Given the description of an element on the screen output the (x, y) to click on. 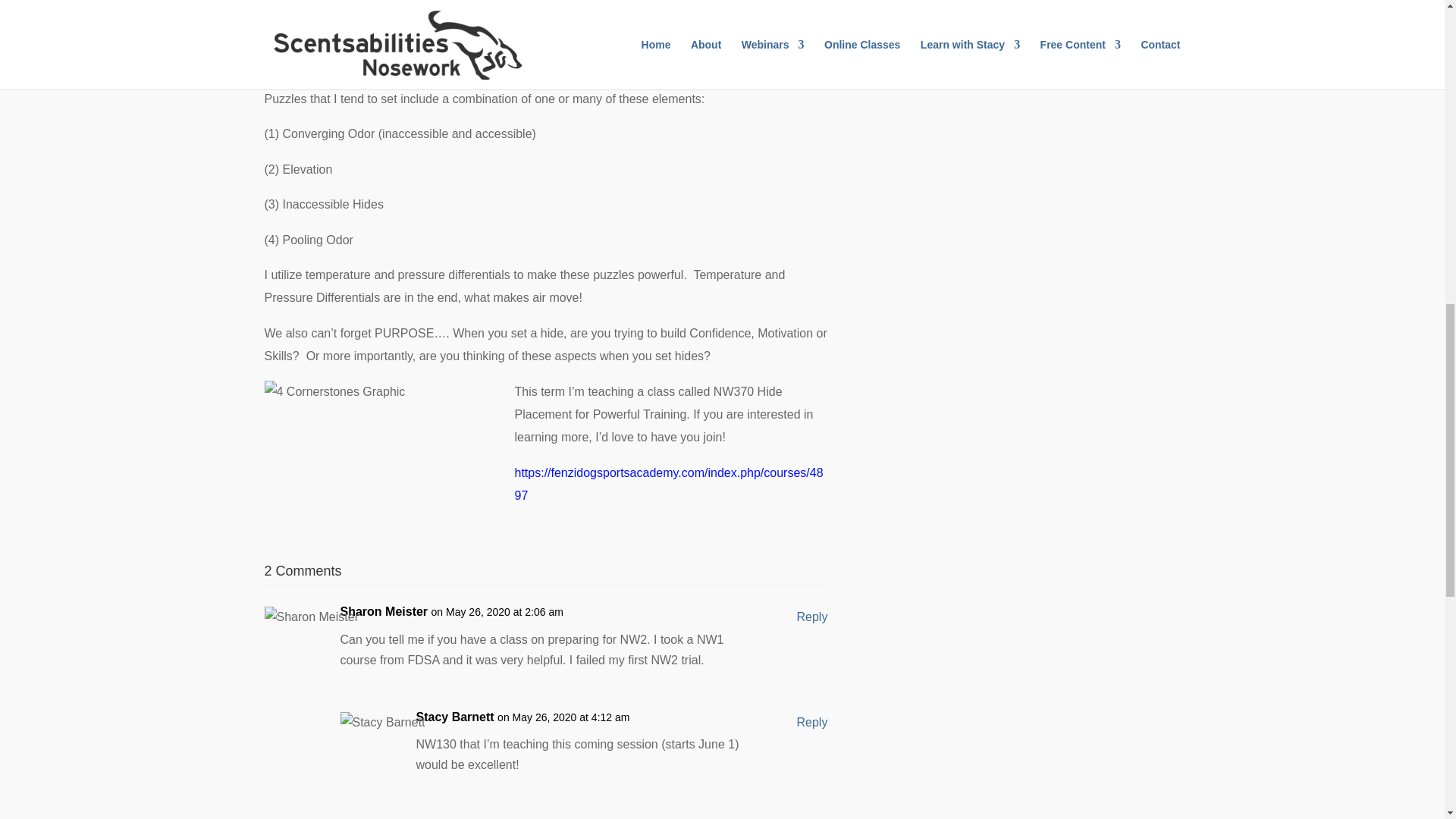
Stacy Barnett (453, 716)
Reply (812, 721)
Reply (812, 616)
